Given the description of an element on the screen output the (x, y) to click on. 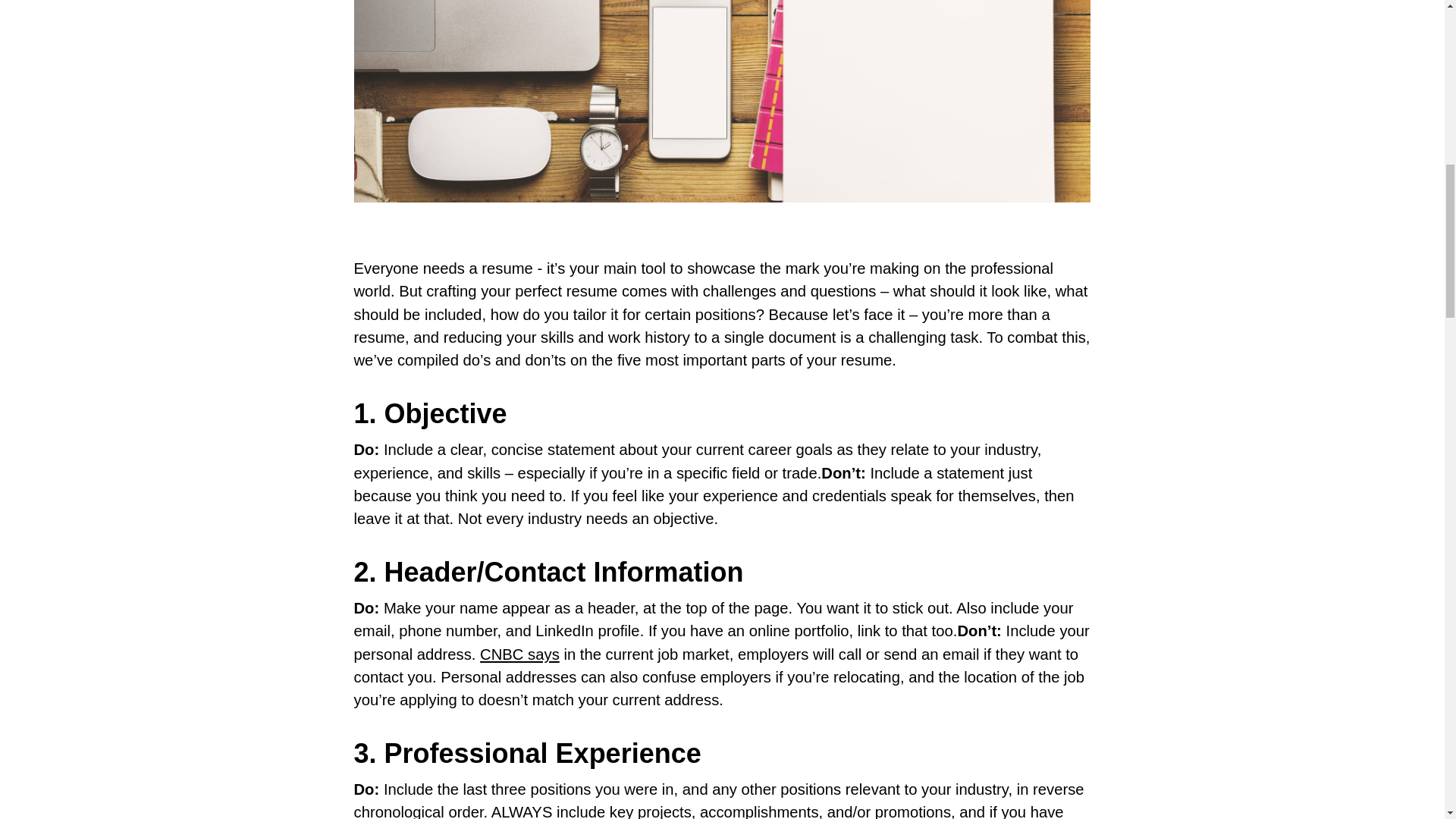
CNBC says (519, 654)
